Given the description of an element on the screen output the (x, y) to click on. 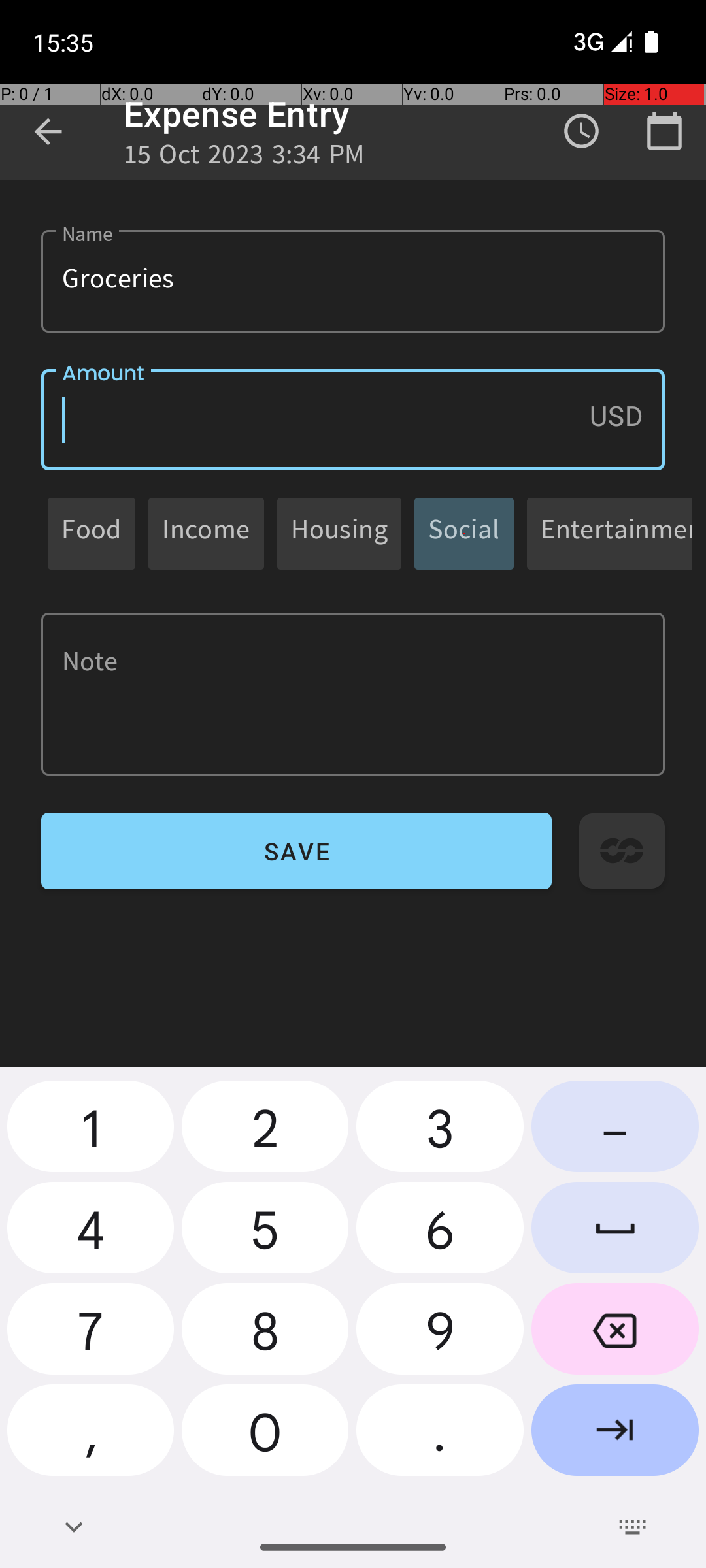
Expense Entry Element type: android.widget.TextView (236, 113)
15 Oct 2023 3:34 PM Element type: android.widget.TextView (244, 157)
Time Element type: android.widget.TextView (580, 131)
Groceries Element type: android.widget.EditText (352, 280)
SAVE Element type: android.widget.Button (296, 850)
Food Element type: android.widget.TextView (91, 533)
Income Element type: android.widget.TextView (206, 533)
Housing Element type: android.widget.TextView (338, 533)
Social Element type: android.widget.TextView (464, 533)
Entertainment Element type: android.widget.TextView (616, 533)
Dash Element type: android.widget.FrameLayout (614, 1130)
Next Element type: android.widget.FrameLayout (614, 1434)
15:35 Element type: android.widget.TextView (64, 41)
